Given the description of an element on the screen output the (x, y) to click on. 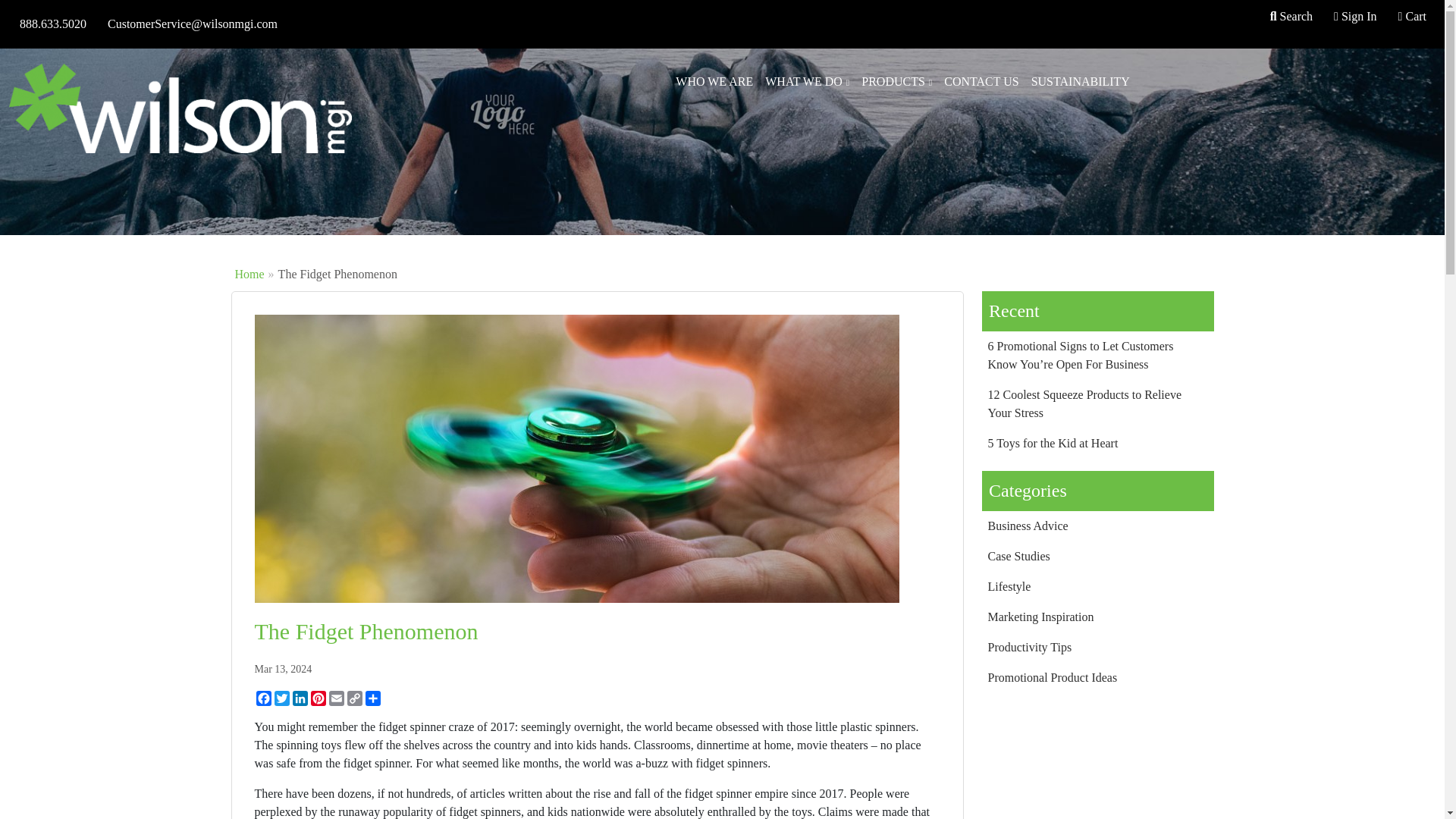
Twitter (282, 698)
WHAT WE DO (807, 81)
Facebook (263, 698)
SUSTAINABILITY (1080, 81)
PRODUCTS (896, 81)
Sign In (1354, 16)
Copy Link (355, 698)
Email (336, 698)
Search (1291, 16)
Cart (1412, 16)
888.633.5020 (52, 23)
Pinterest (317, 698)
WHO WE ARE (713, 81)
12 Coolest Squeeze Products to Relieve Your Stress (1096, 404)
CONTACT US (981, 81)
